Given the description of an element on the screen output the (x, y) to click on. 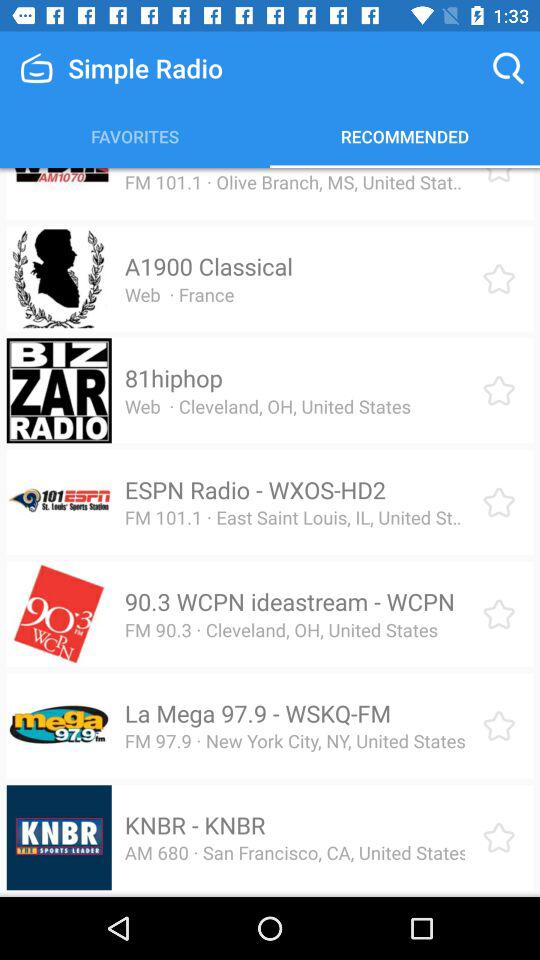
press the icon above the web cleveland oh (173, 378)
